Given the description of an element on the screen output the (x, y) to click on. 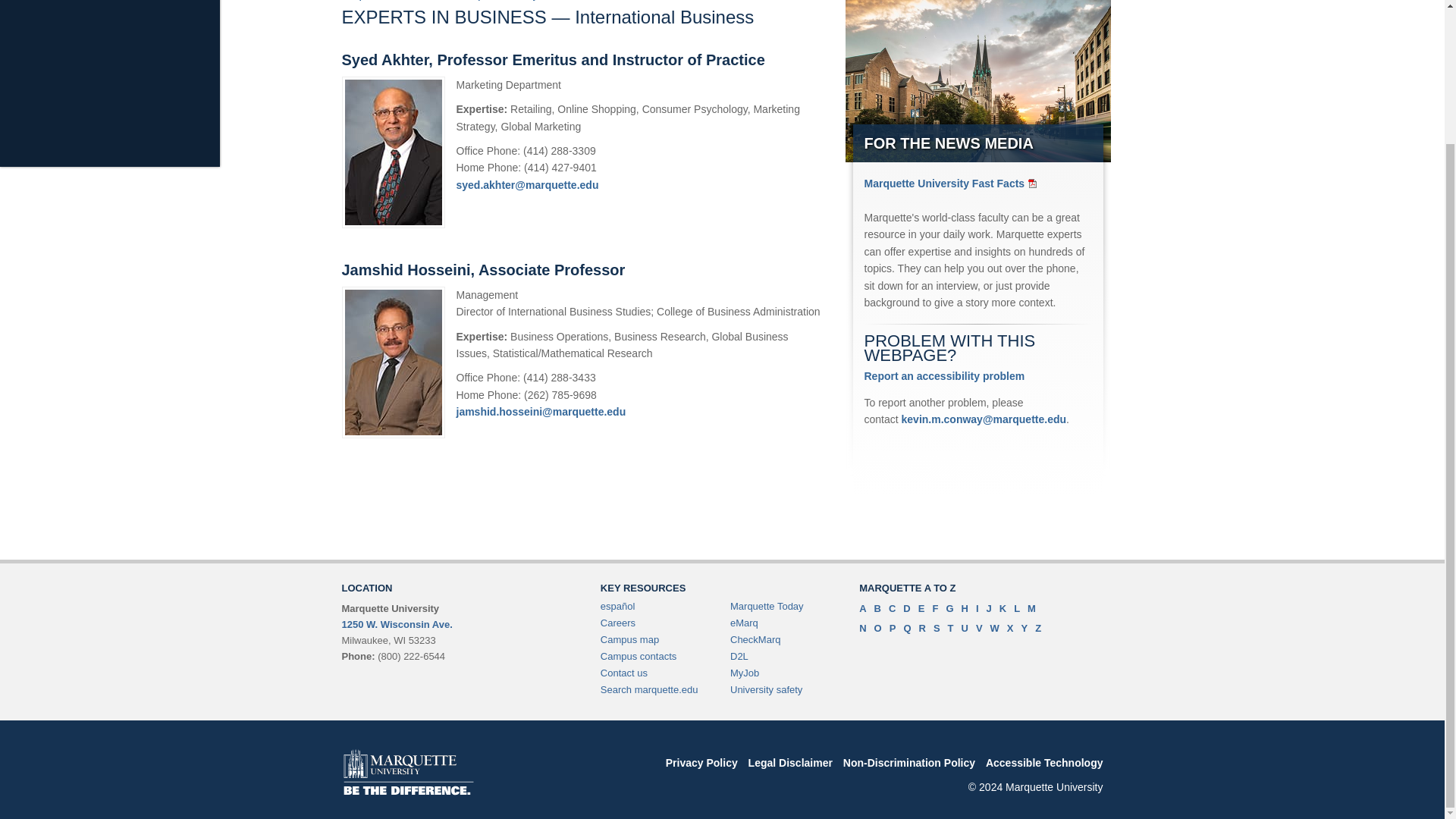
Contact us (623, 672)
Marquette University Fast Facts (951, 183)
eMarq (744, 622)
News Center (432, 0)
Careers (616, 622)
Marquette University Fast Facts (951, 183)
Campus map (629, 639)
Campus contacts (638, 655)
Marquette.edu (368, 0)
1250 W. Wisconsin Ave. (395, 624)
Marquette Today (766, 605)
Report an accessibility problem (944, 376)
Search marquette.edu (648, 689)
Experts Directory (502, 0)
